Given the description of an element on the screen output the (x, y) to click on. 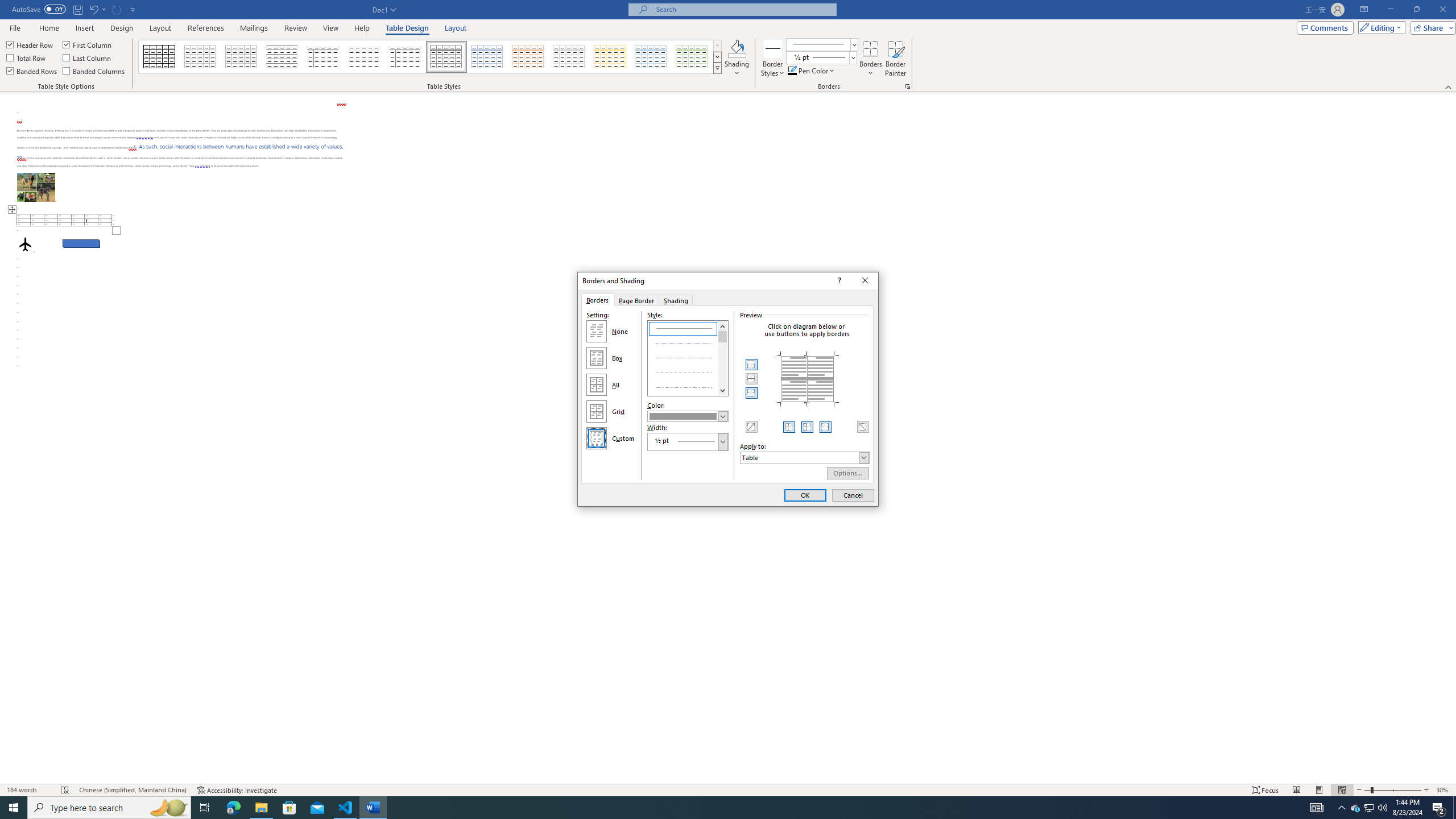
Language Chinese (Simplified, Mainland China) (132, 790)
None (596, 331)
Pen Color (811, 69)
Spelling and Grammar Check Errors (65, 790)
Notification Chevron (1341, 807)
